Given the description of an element on the screen output the (x, y) to click on. 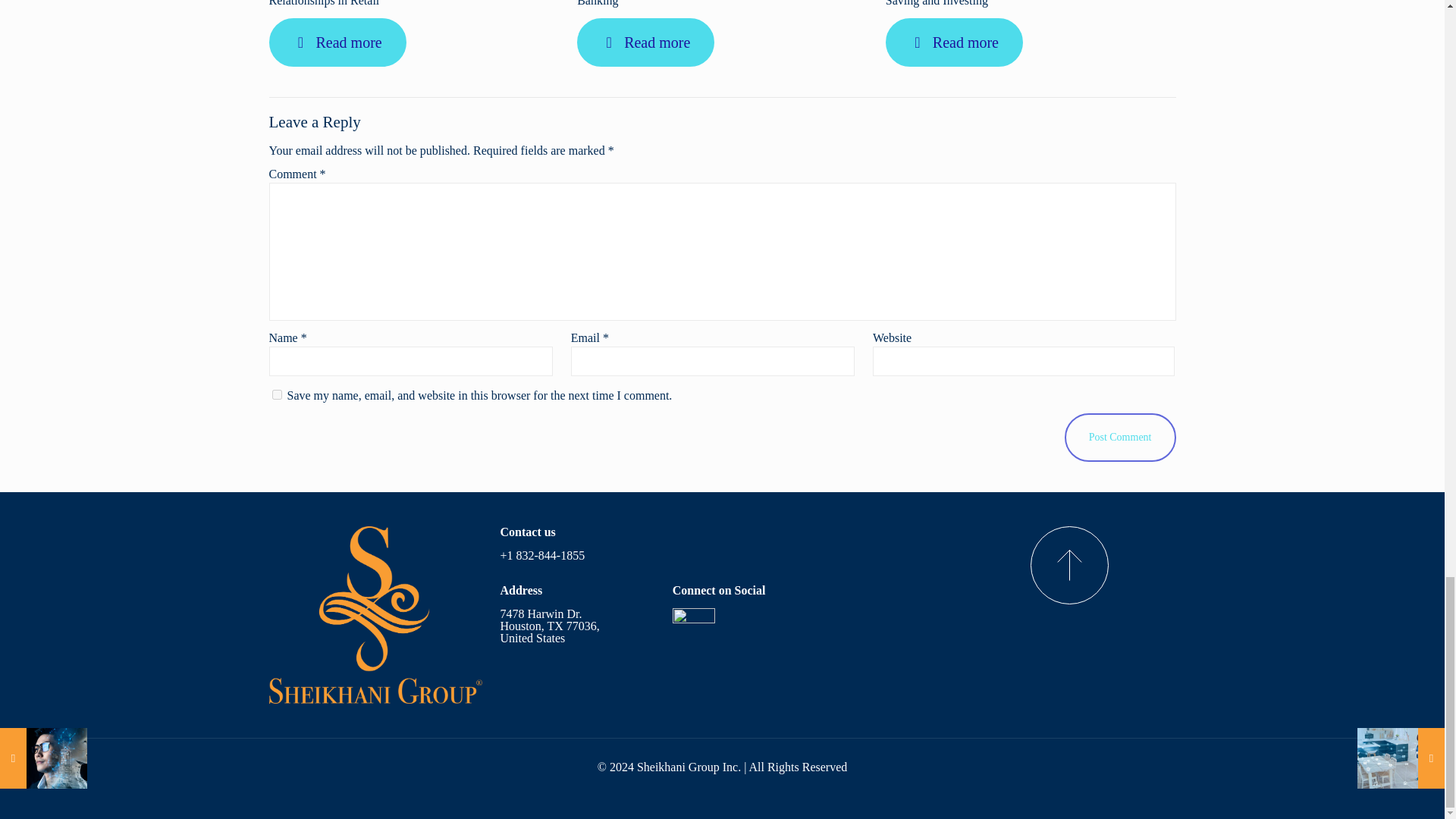
Post Comment (1120, 437)
yes (275, 394)
Post Comment (1120, 437)
Read more (954, 42)
Read more (336, 42)
Read more (645, 42)
